Given the description of an element on the screen output the (x, y) to click on. 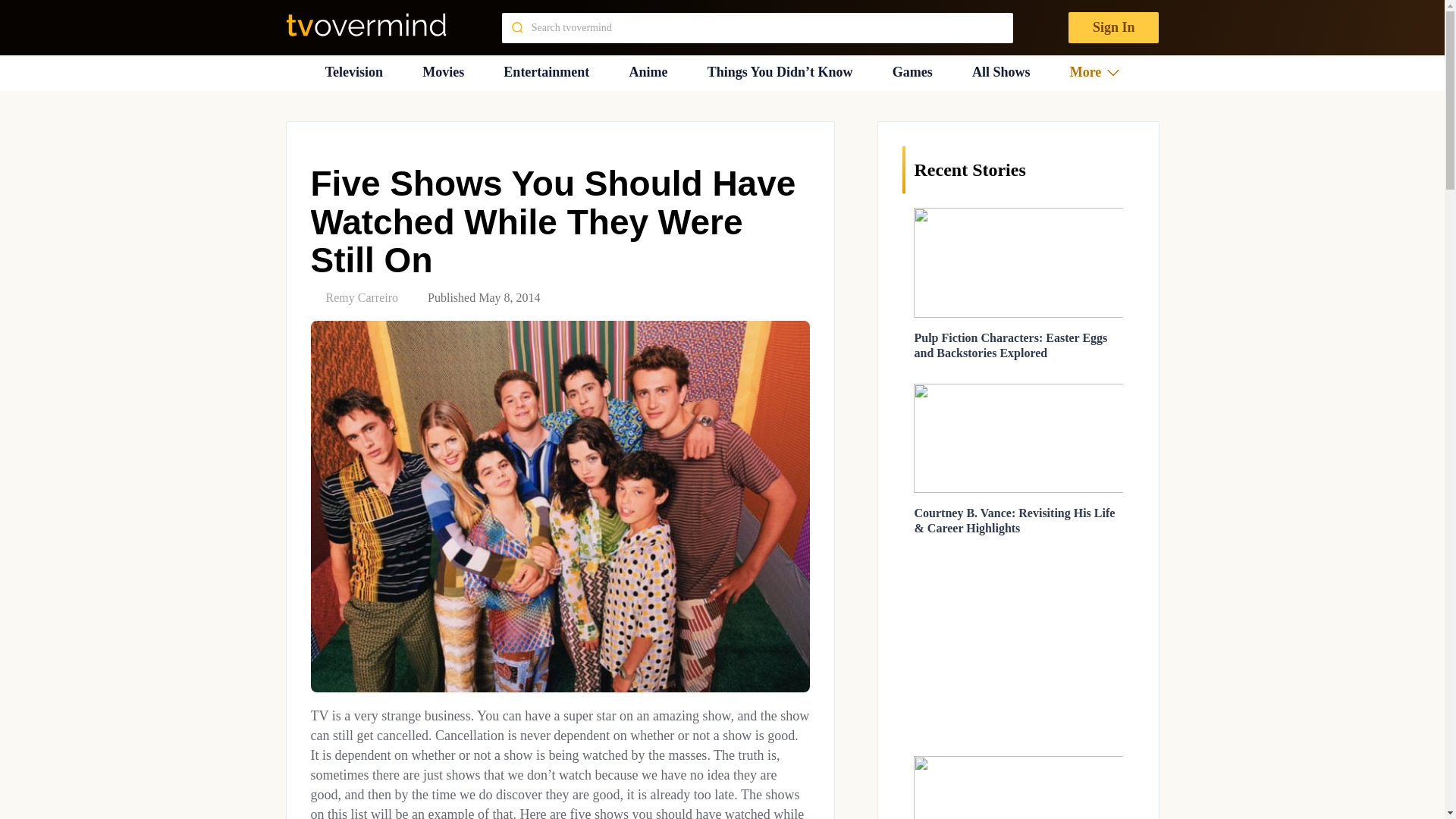
Games (912, 72)
Television (353, 72)
TV News (353, 72)
Entertainment (546, 72)
More (1094, 72)
Sign In (1113, 27)
Posts by Remy Carreiro (362, 297)
Movies (443, 72)
